Given the description of an element on the screen output the (x, y) to click on. 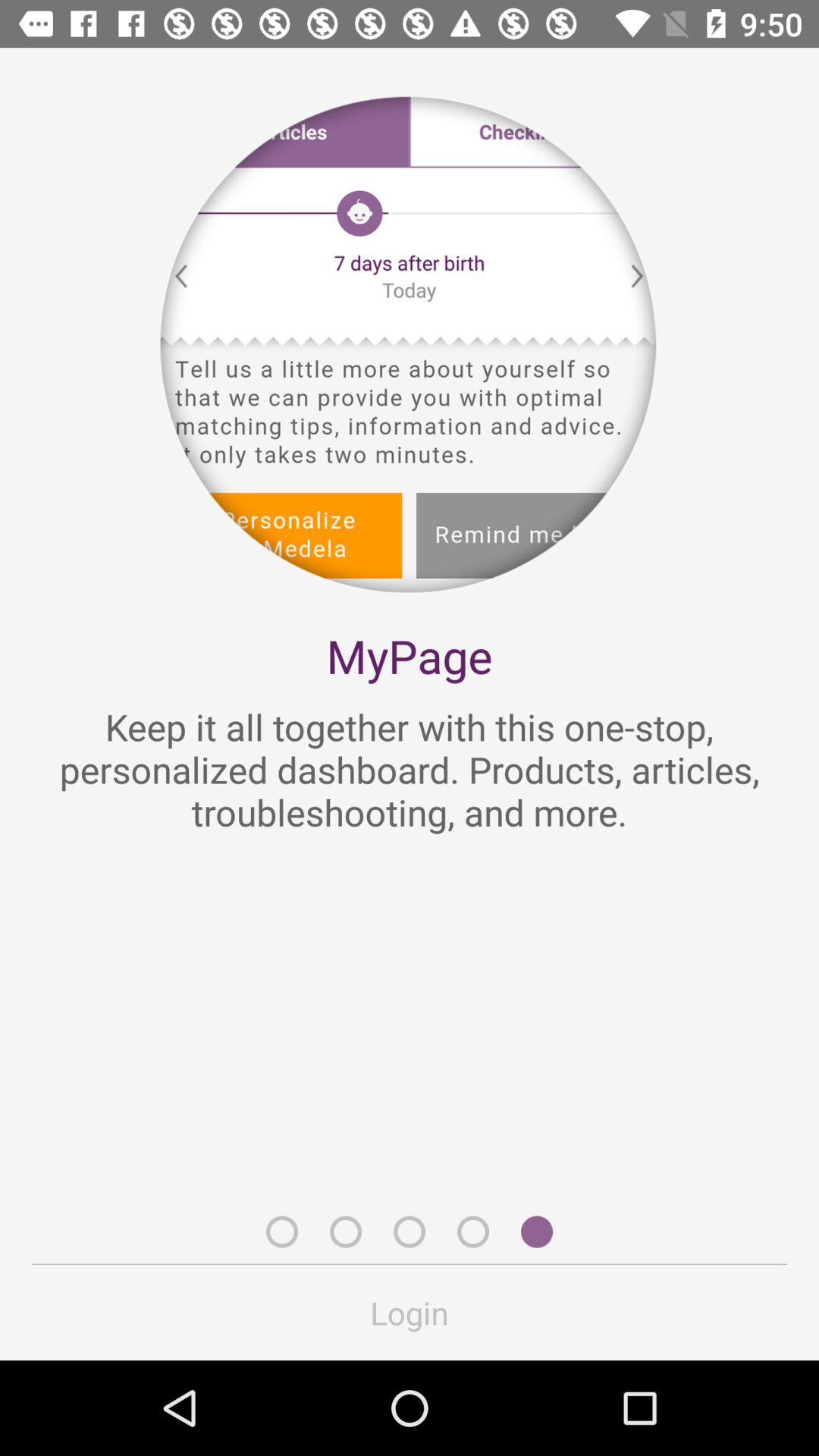
tap the login (409, 1312)
